Given the description of an element on the screen output the (x, y) to click on. 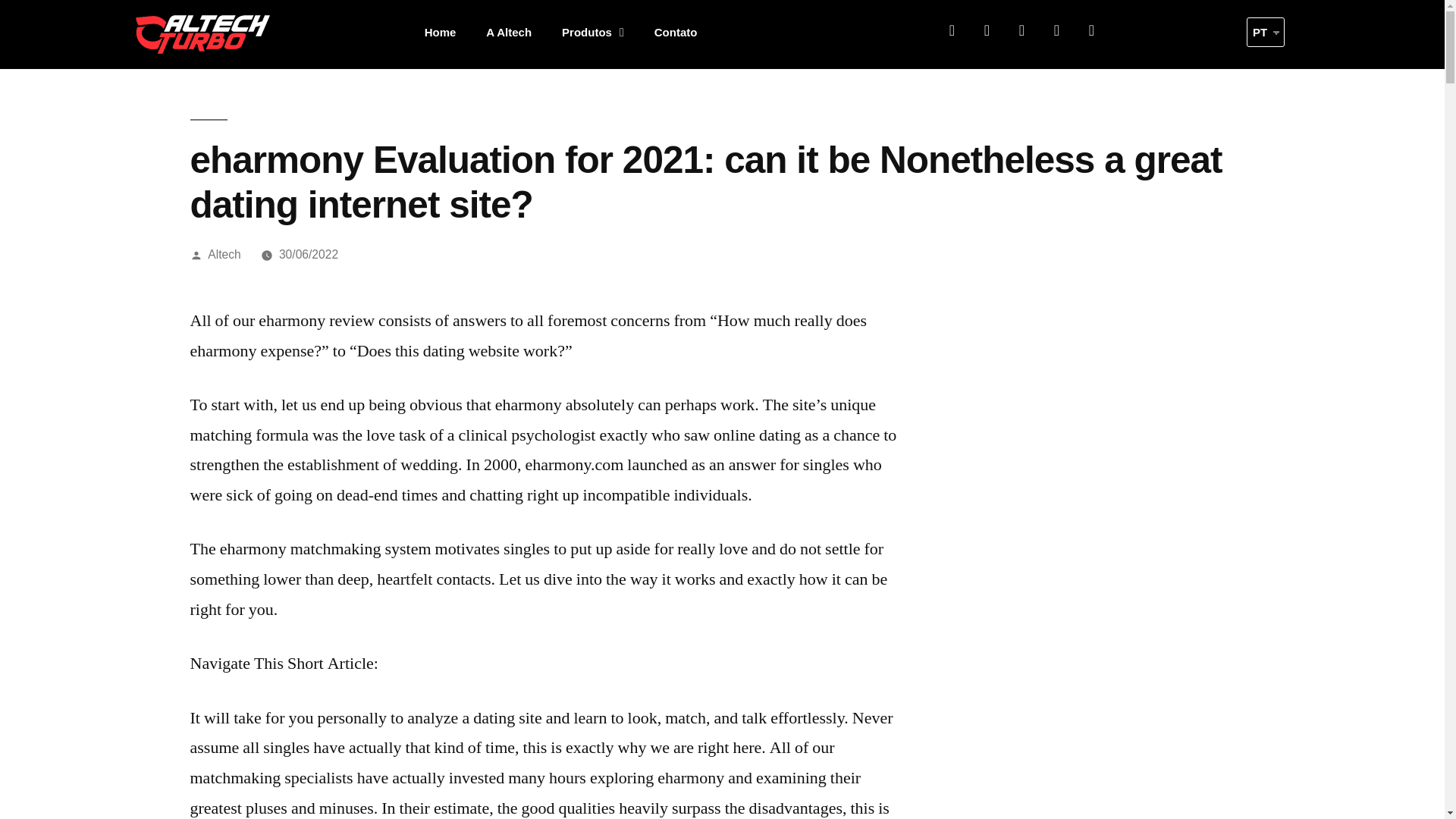
Contato (676, 32)
Home (440, 32)
Produtos (593, 32)
A Altech (508, 32)
